Given the description of an element on the screen output the (x, y) to click on. 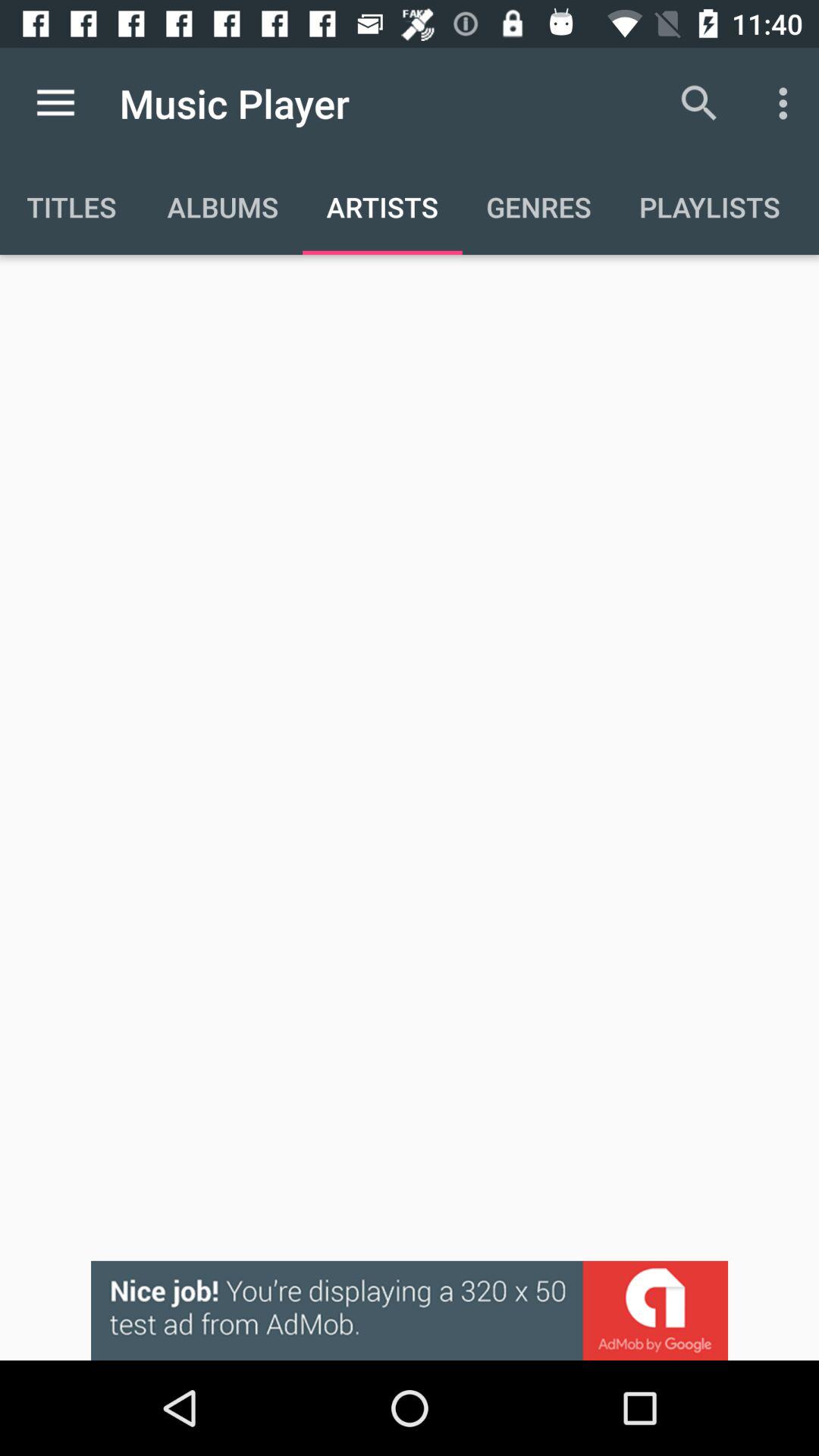
menu option (55, 103)
